Given the description of an element on the screen output the (x, y) to click on. 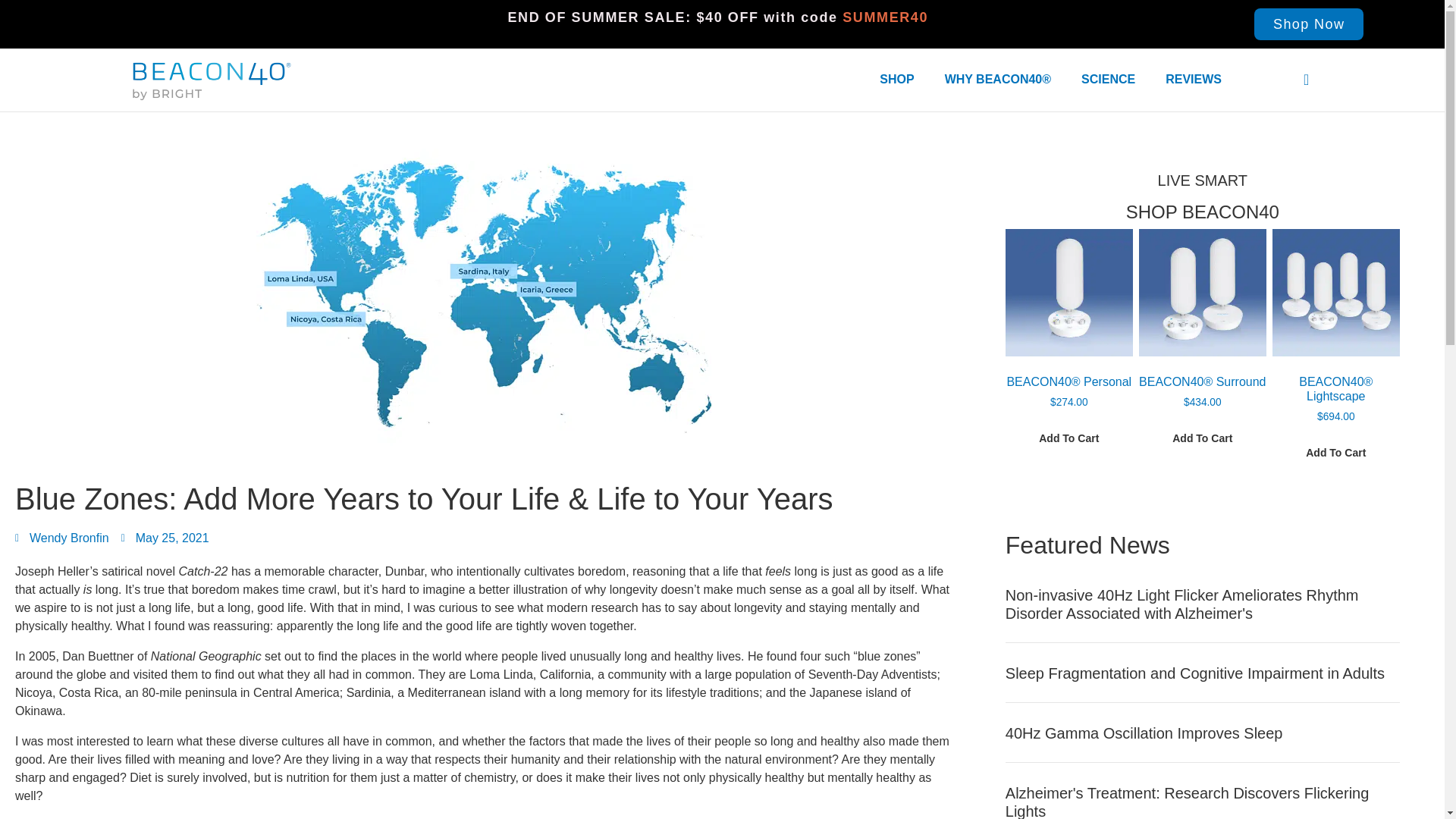
SHOP (896, 79)
Add To Cart (1335, 453)
Shop Now (1307, 24)
REVIEWS (1193, 79)
Add To Cart (1202, 437)
Alzheimer's Treatment: Research Discovers Flickering Lights (1188, 801)
SCIENCE (1107, 79)
May 25, 2021 (164, 538)
40Hz Gamma Oscillation Improves Sleep (1144, 733)
